Given the description of an element on the screen output the (x, y) to click on. 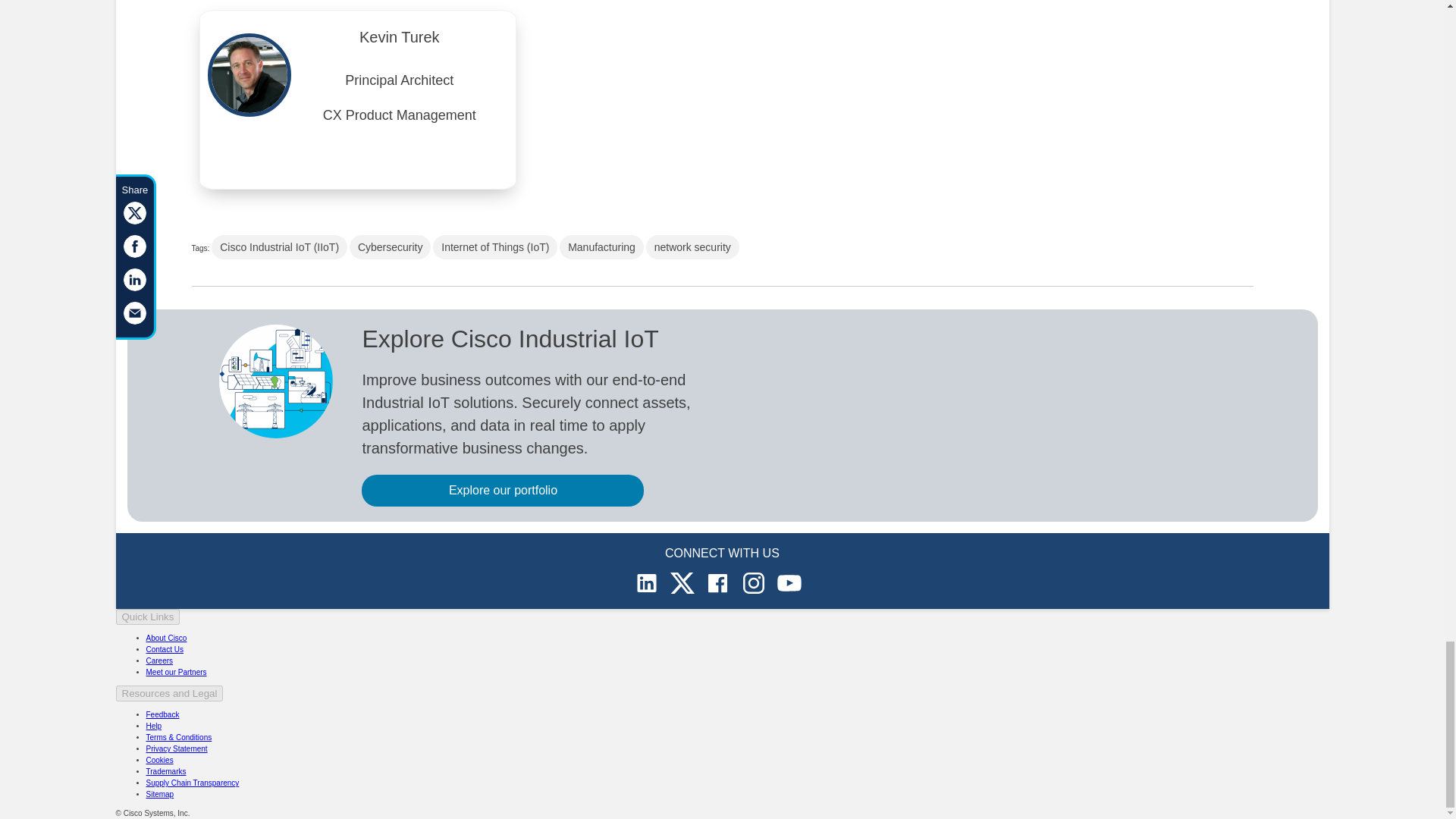
Cybersecurity (389, 247)
Explore our portfolio (502, 490)
Kevin Turek (399, 40)
network security (692, 247)
Manufacturing (601, 247)
